Given the description of an element on the screen output the (x, y) to click on. 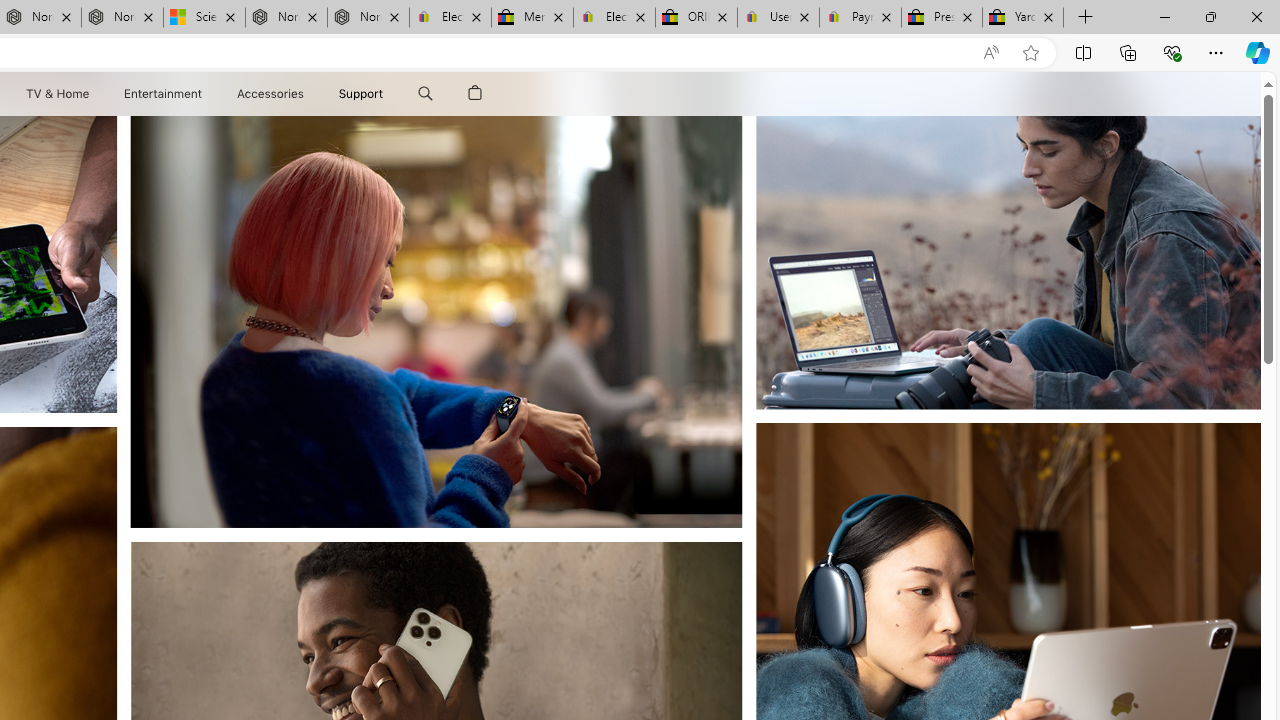
Class: globalnav-submenu-trigger-item (387, 93)
Shopping Bag (475, 93)
Support (361, 93)
Class: globalnav-item globalnav-search shift-0-1 (425, 93)
Accessories menu (306, 93)
